Given the description of an element on the screen output the (x, y) to click on. 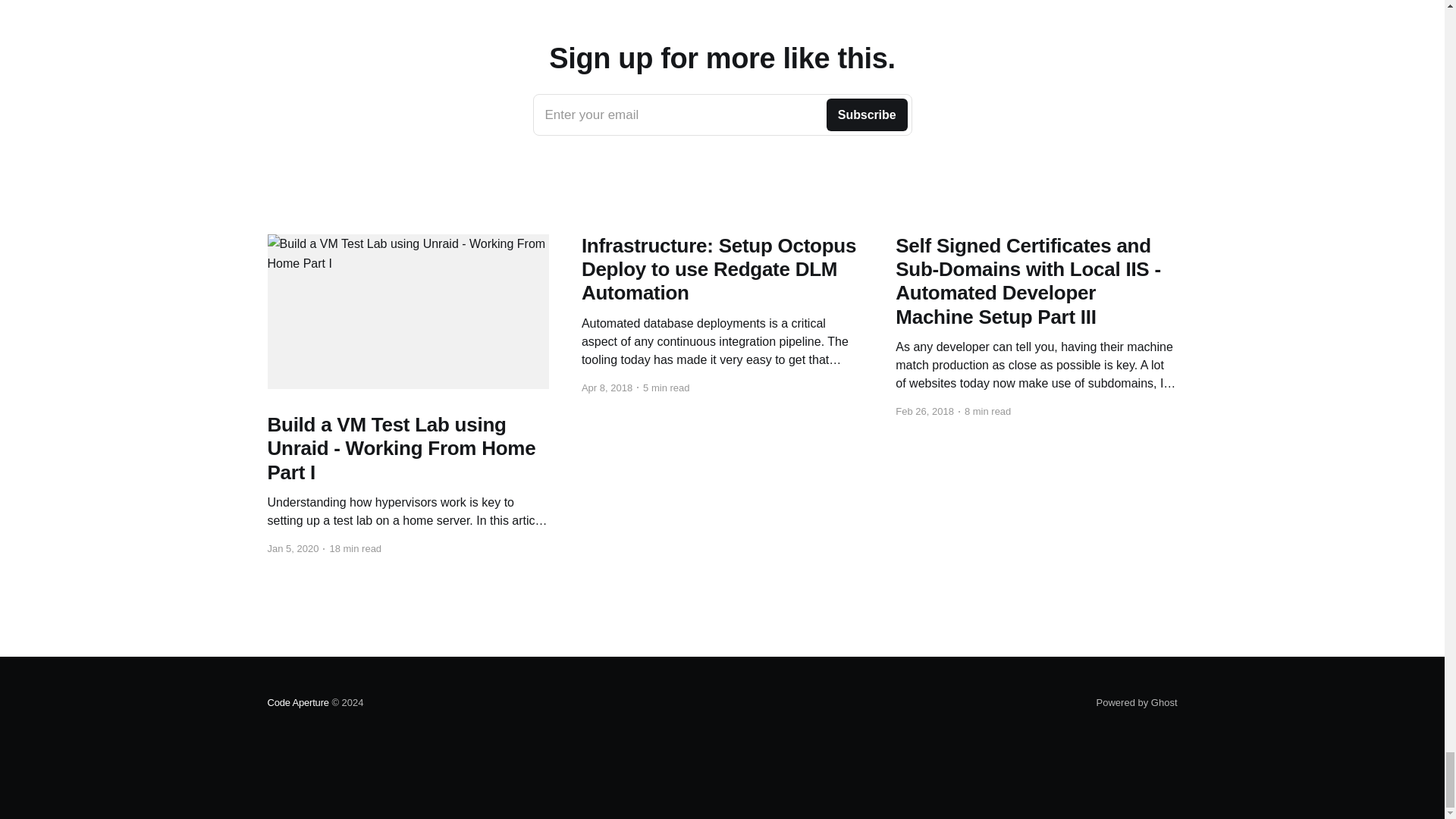
Powered by Ghost (721, 115)
Code Aperture (1136, 702)
